Given the description of an element on the screen output the (x, y) to click on. 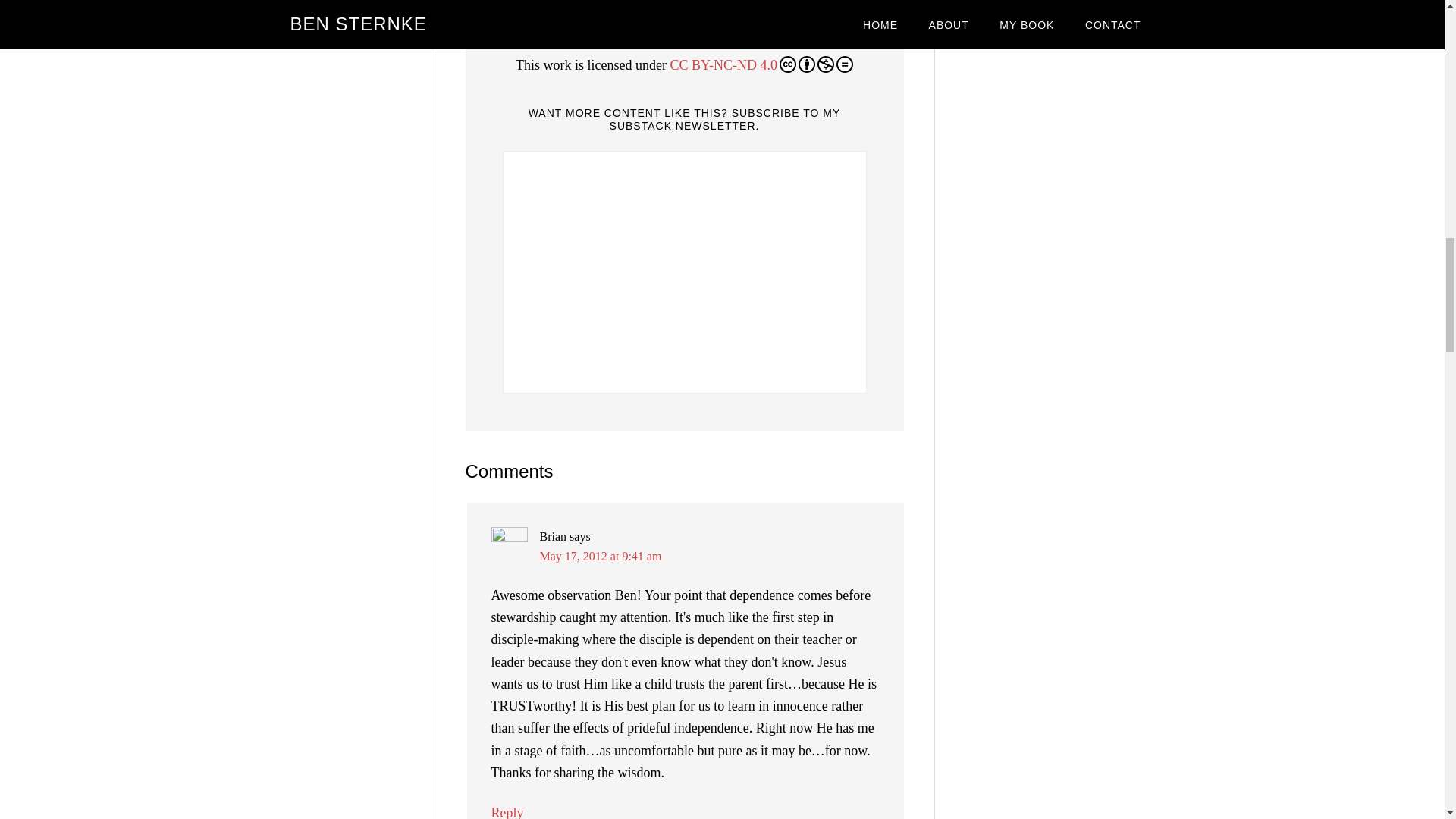
CC BY-NC-ND 4.0 (761, 65)
Reply (508, 812)
May 17, 2012 at 9:41 am (601, 555)
